Given the description of an element on the screen output the (x, y) to click on. 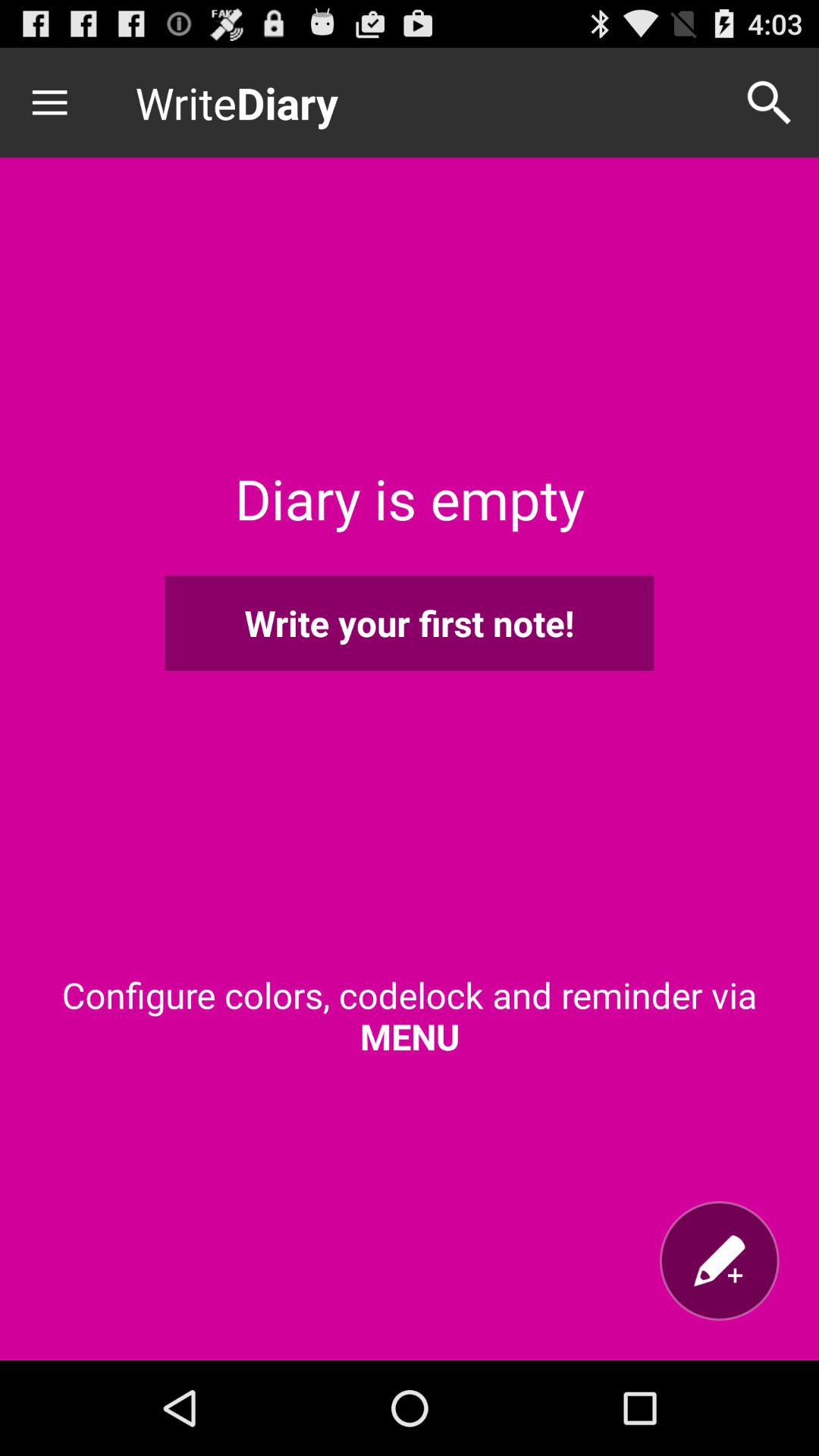
launch write your first button (409, 623)
